Given the description of an element on the screen output the (x, y) to click on. 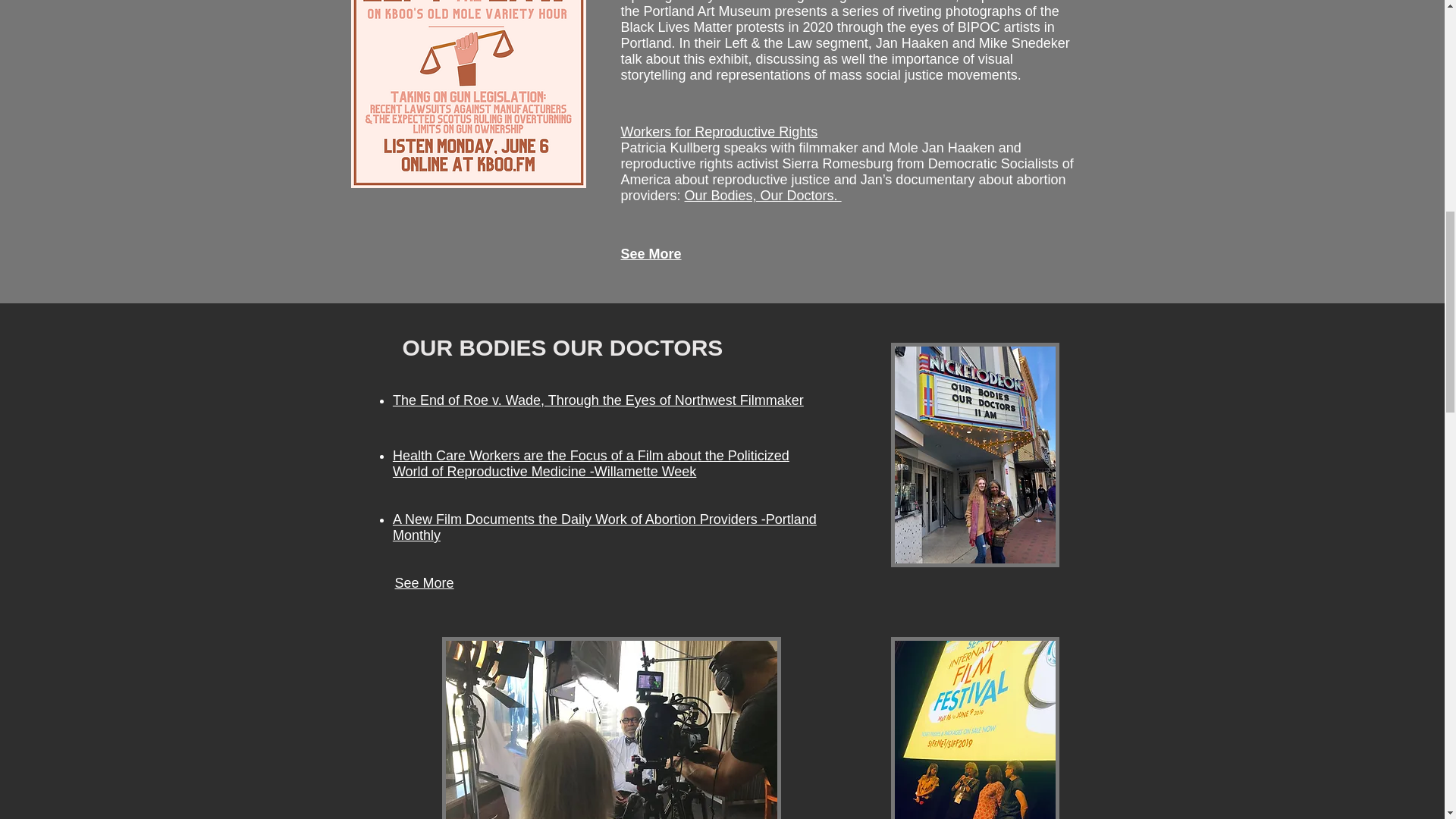
Workers for Reproductive Rights (718, 131)
See More (424, 582)
See More (650, 253)
Our Bodies, Our Doctors.  (762, 195)
Left and the Law.png (467, 94)
